Given the description of an element on the screen output the (x, y) to click on. 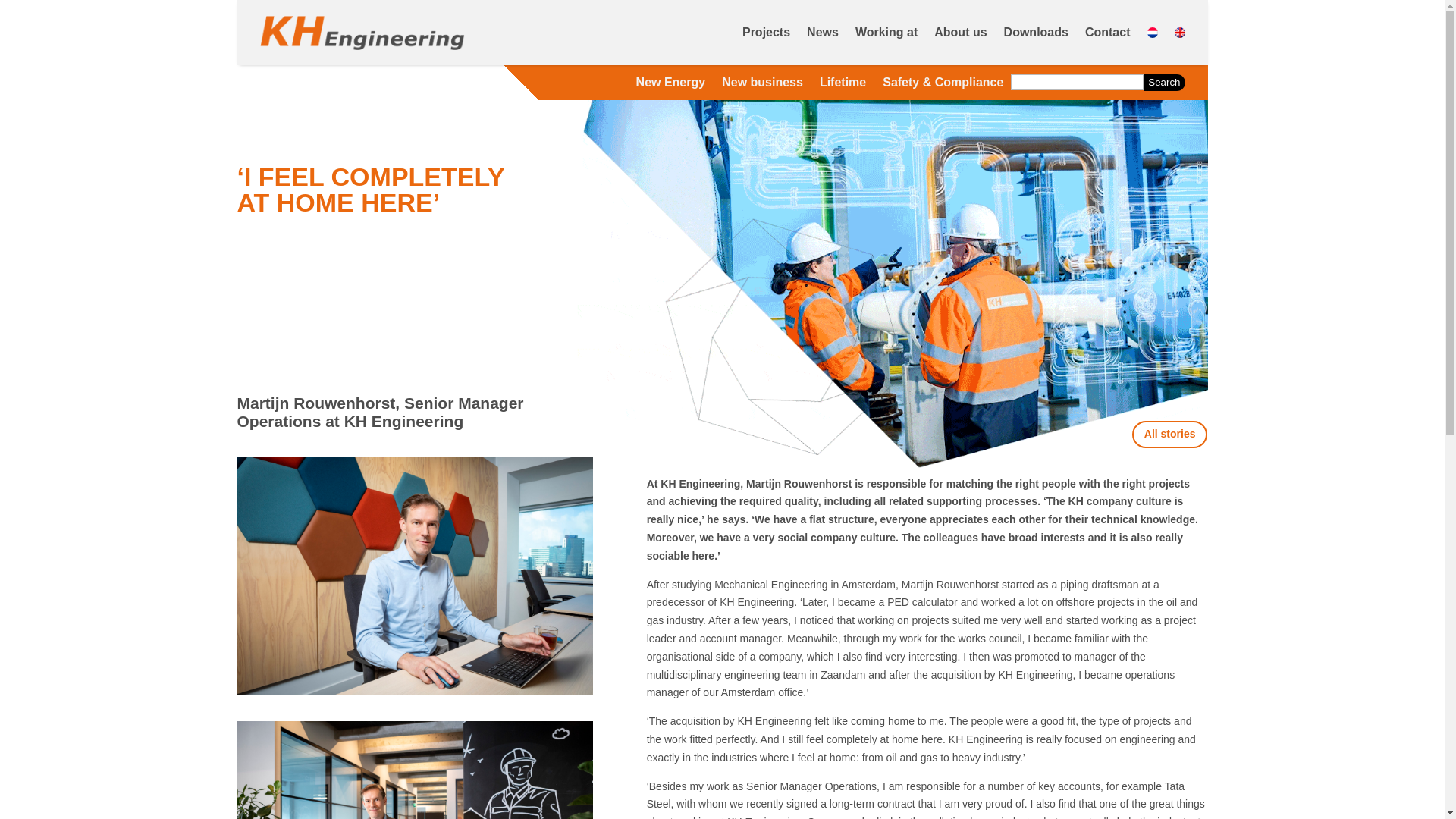
Lifetime (842, 85)
Search (1163, 82)
Working at (886, 32)
About us (960, 32)
All stories (1170, 433)
Search (1163, 82)
Downloads (1036, 32)
New Energy (671, 85)
New business (762, 85)
